Given the description of an element on the screen output the (x, y) to click on. 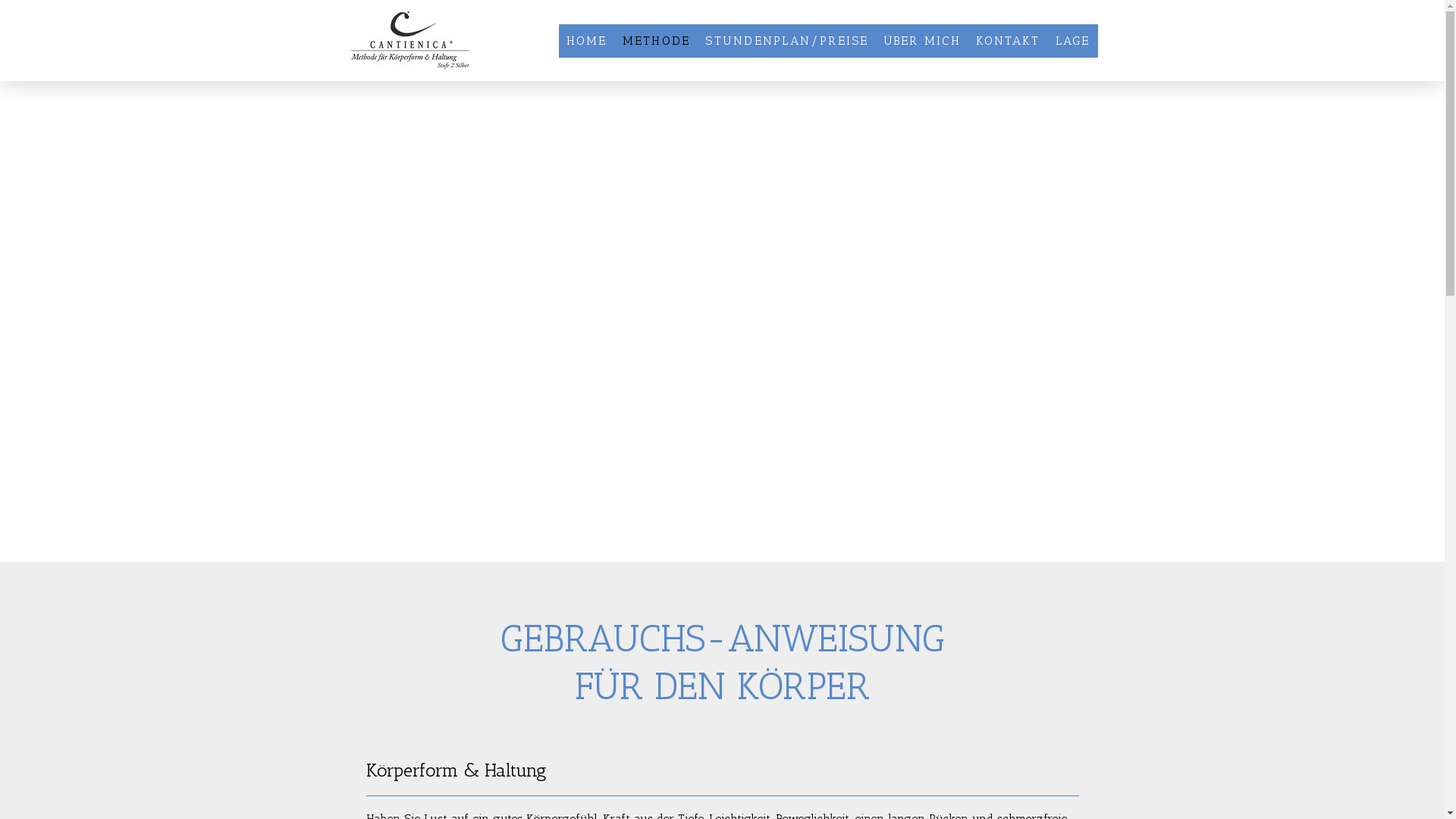
STUNDENPLAN/PREISE Element type: text (786, 40)
METHODE Element type: text (656, 40)
LAGE Element type: text (1073, 40)
HOME Element type: text (586, 40)
KONTAKT Element type: text (1008, 40)
Methode Element type: text (638, 542)
